Given the description of an element on the screen output the (x, y) to click on. 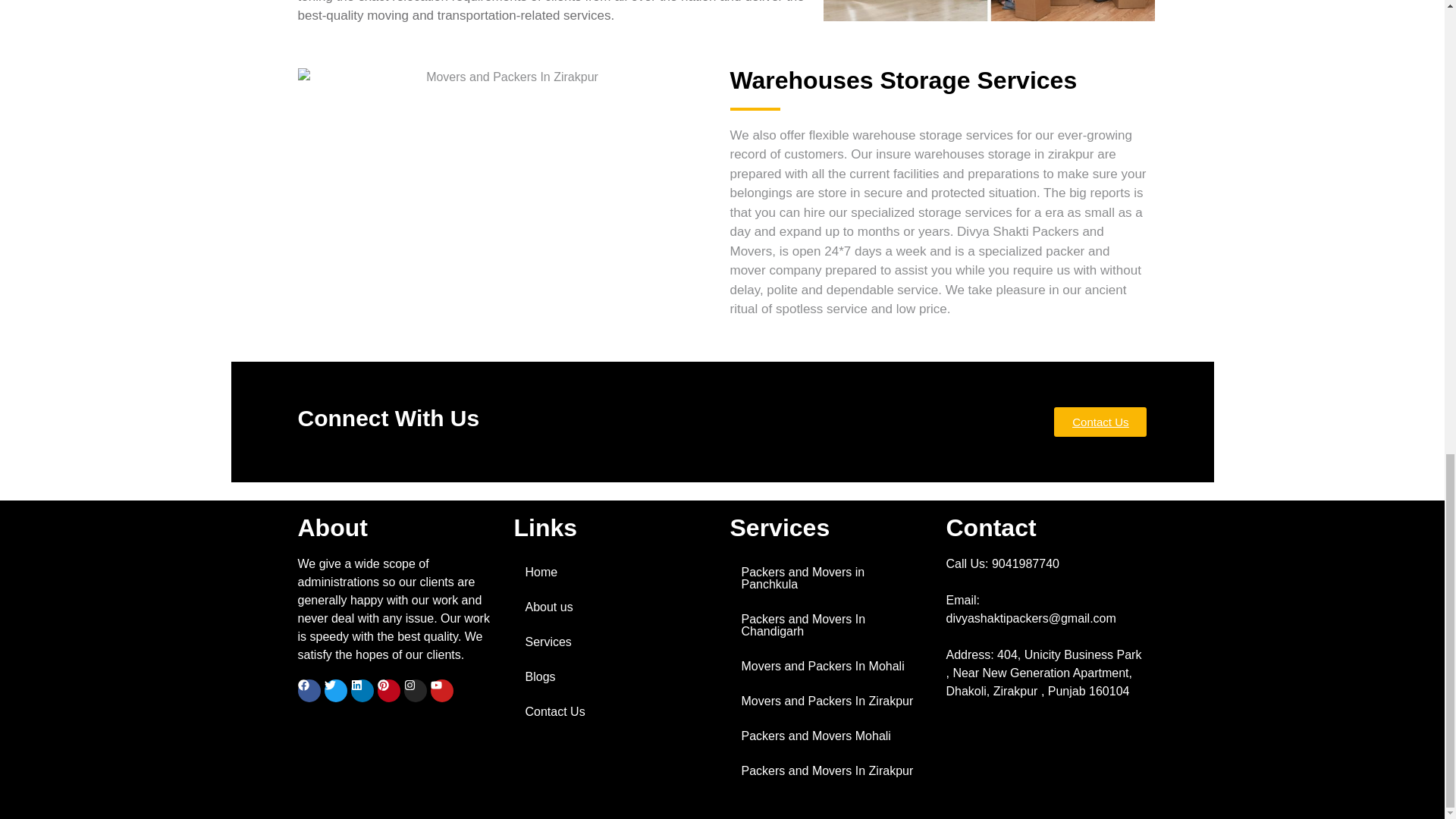
Packers and Movers in Panchkula (829, 578)
Contact Us (613, 711)
Home (613, 572)
Services (613, 642)
Contact Us (1100, 421)
About us (613, 606)
Blogs (613, 677)
